Given the description of an element on the screen output the (x, y) to click on. 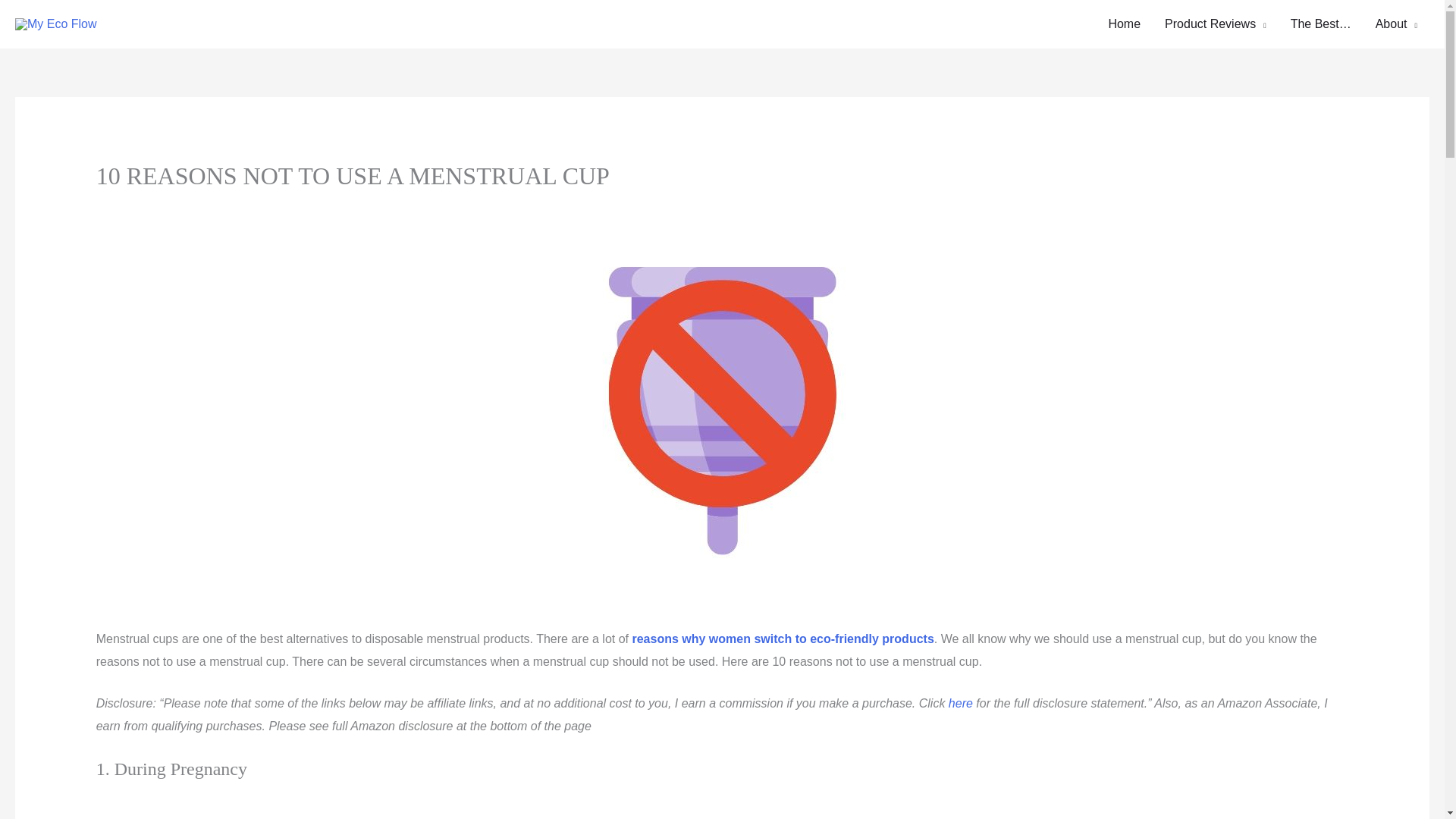
Home (1124, 24)
About (1395, 24)
here (960, 703)
reasons why women switch to eco-friendly products (782, 638)
Product Reviews (1215, 24)
